Given the description of an element on the screen output the (x, y) to click on. 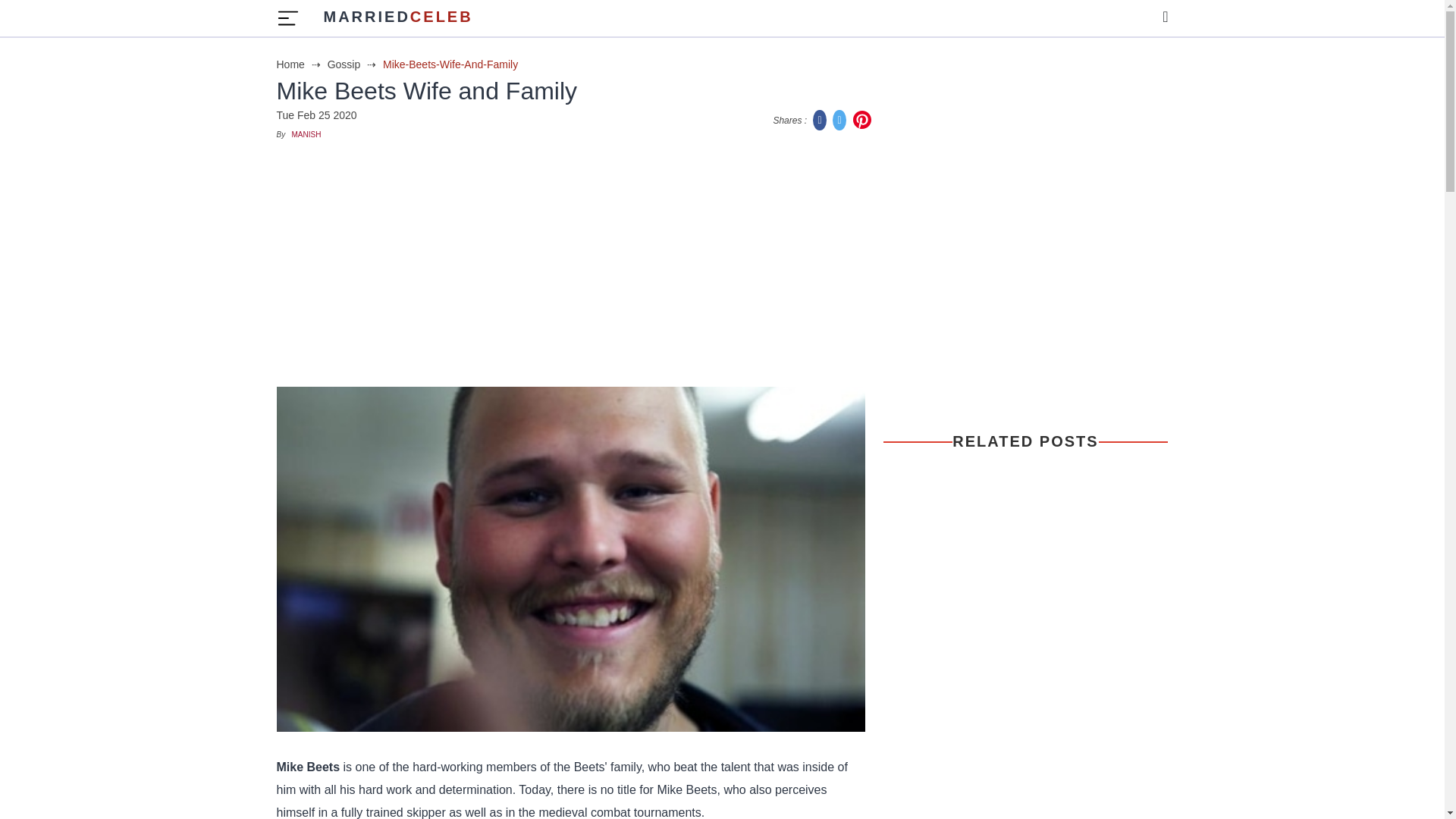
Facebook (820, 119)
Home (397, 18)
MANISH (299, 64)
Pinterest (306, 134)
Mike Beets Wife and Family (860, 119)
Twitter (353, 64)
